Given the description of an element on the screen output the (x, y) to click on. 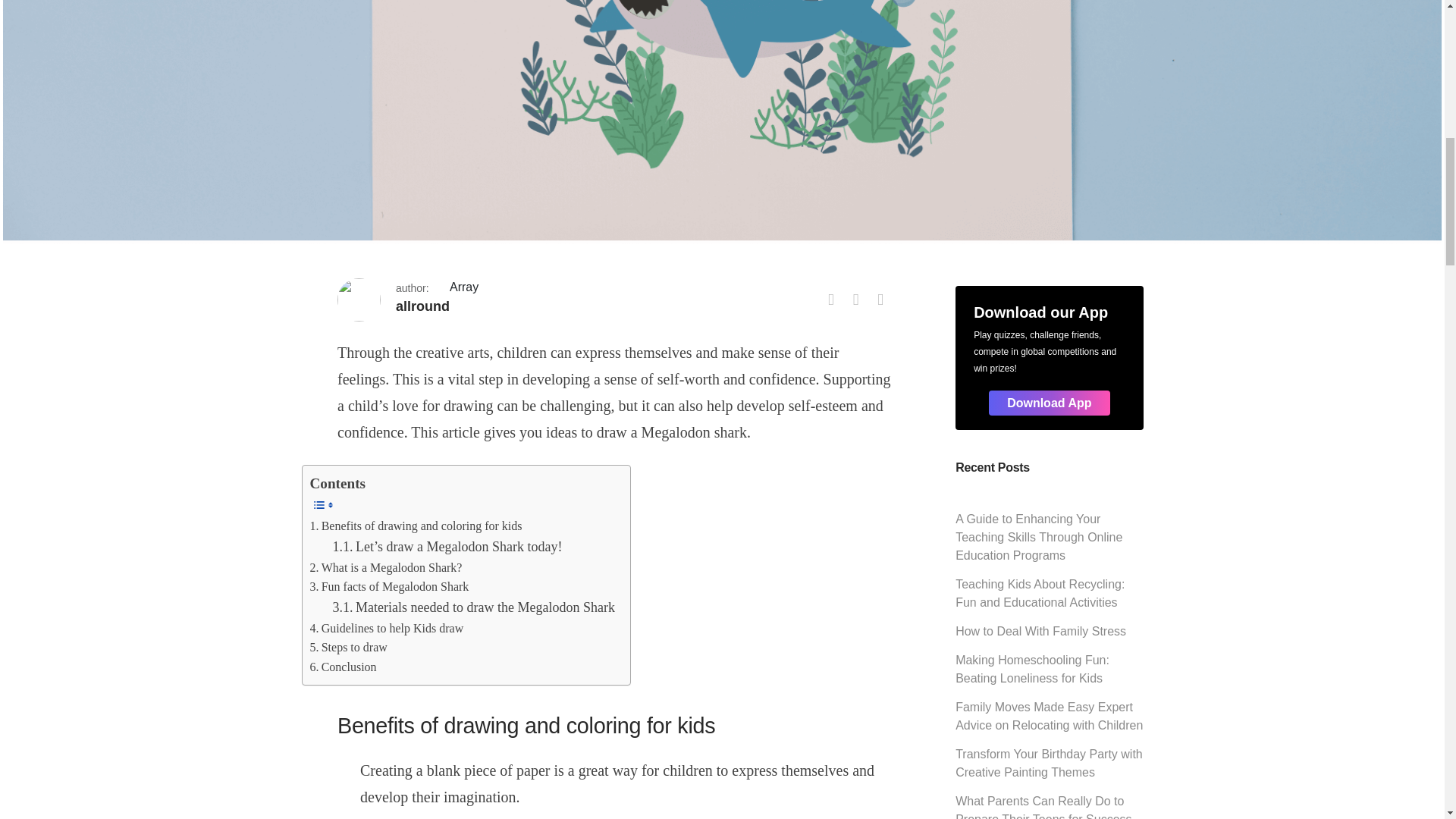
What is a Megalodon Shark? (384, 567)
allround (422, 305)
What is a Megalodon Shark? (384, 567)
Guidelines to help Kids draw (385, 628)
Conclusion (341, 667)
Fun facts of Megalodon Shark (388, 587)
Materials needed to draw the Megalodon Shark (472, 608)
Benefits of drawing and coloring for kids (414, 526)
Benefits of drawing and coloring for kids (414, 526)
Posts by allround (422, 305)
Steps to draw (347, 647)
